Given the description of an element on the screen output the (x, y) to click on. 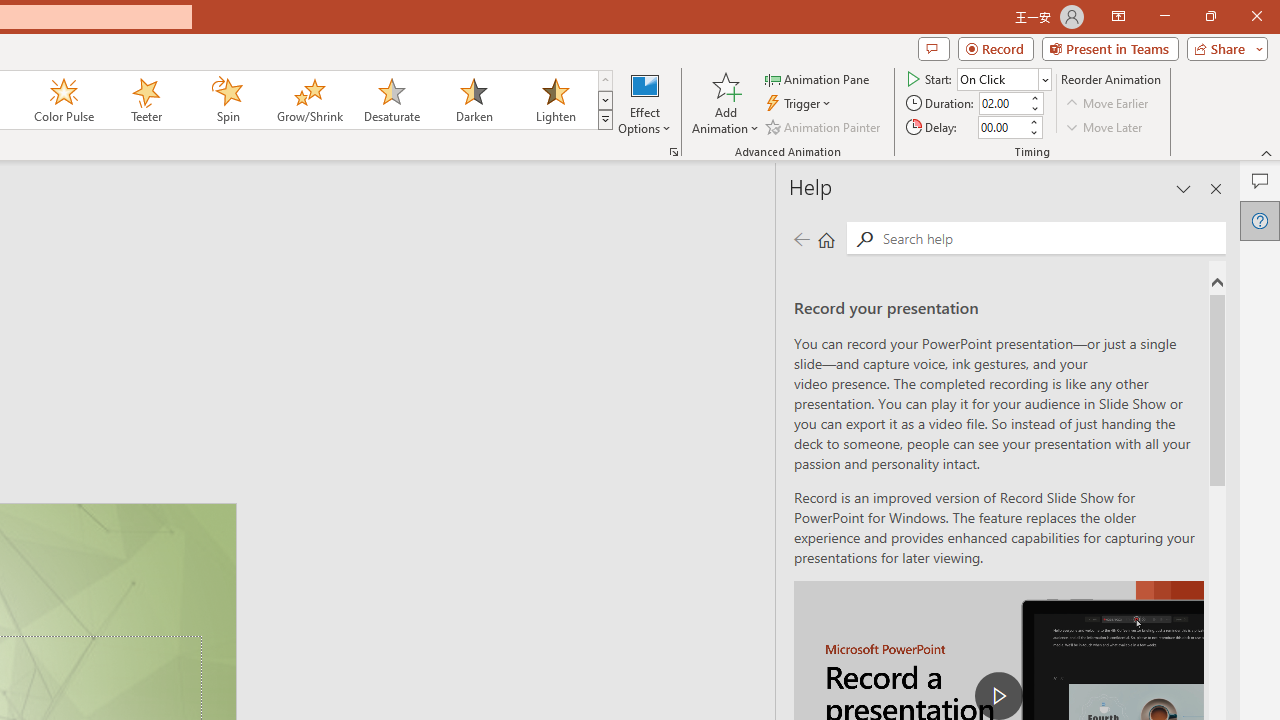
Grow/Shrink (309, 100)
Teeter (145, 100)
Move Earlier (1107, 103)
Animation Pane (818, 78)
Previous page (801, 238)
Add Animation (725, 102)
Lighten (555, 100)
Animation Styles (605, 120)
